Given the description of an element on the screen output the (x, y) to click on. 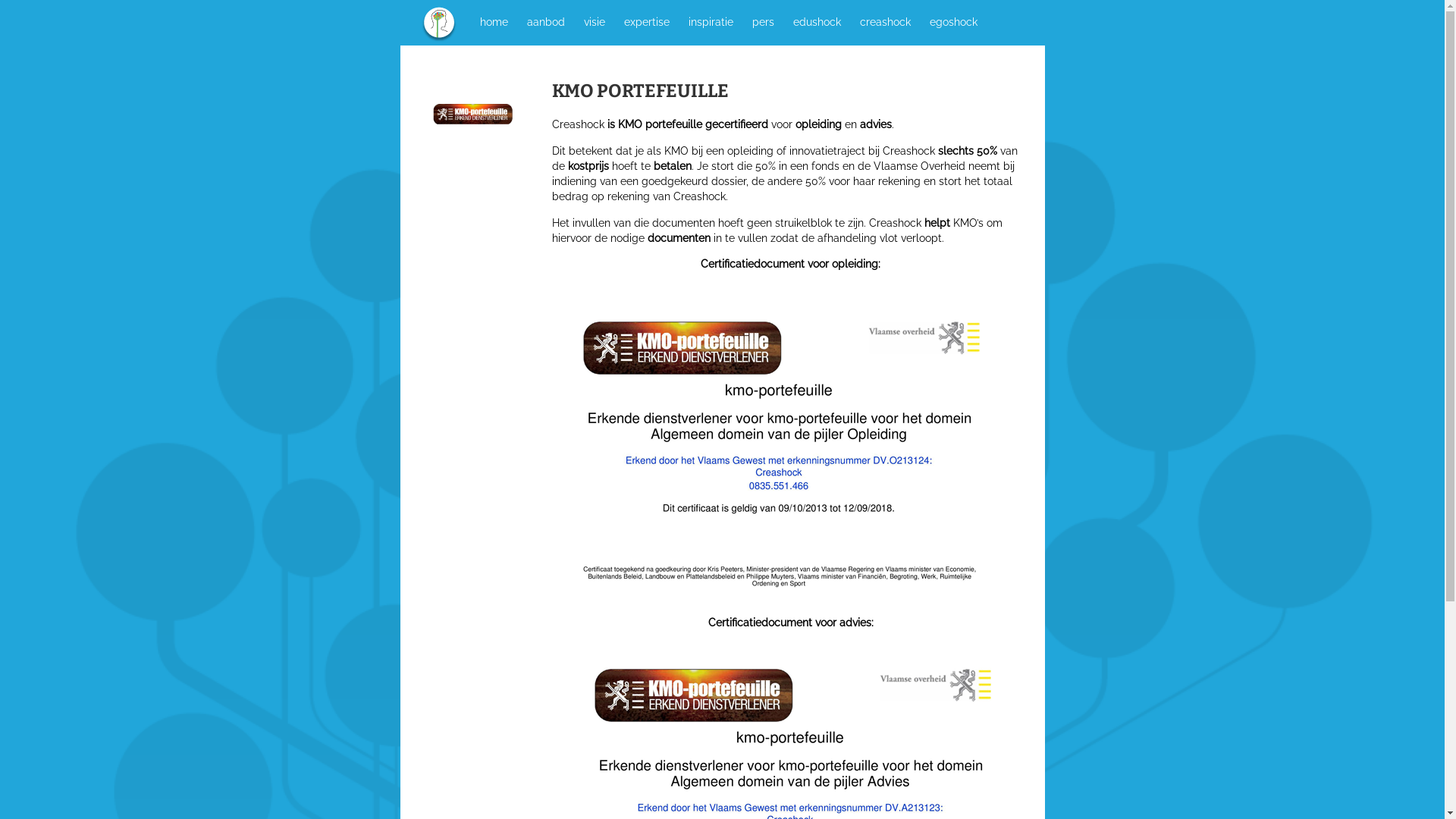
creashock Element type: text (884, 21)
expertise Element type: text (646, 21)
egoshock Element type: text (952, 21)
pers Element type: text (762, 21)
visie Element type: text (593, 21)
aanbod Element type: text (545, 21)
home Element type: text (493, 21)
inspiratie Element type: text (710, 21)
edushock Element type: text (816, 21)
